Given the description of an element on the screen output the (x, y) to click on. 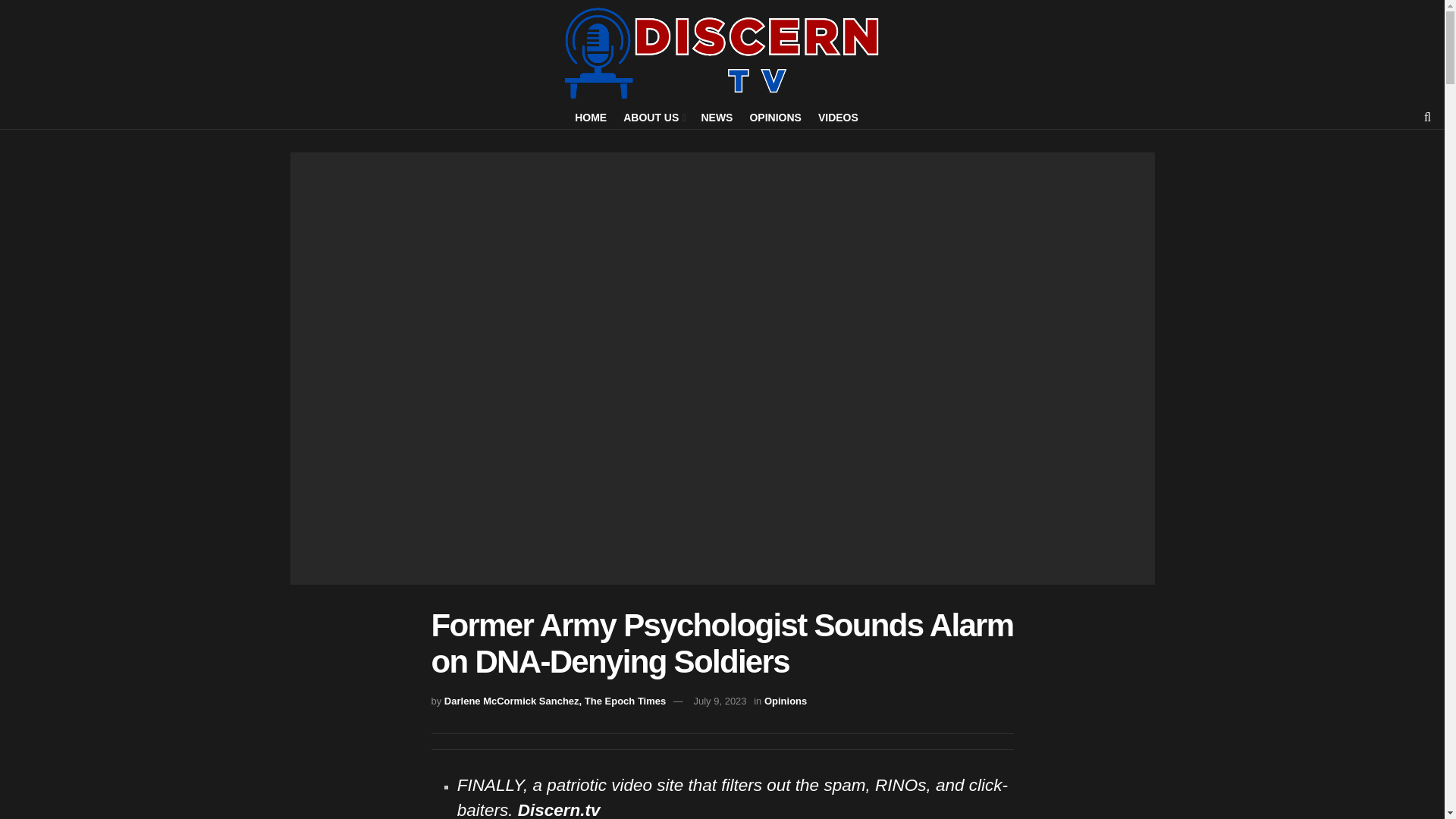
Opinions (785, 700)
Discern.tv (558, 809)
NEWS (716, 117)
ABOUT US (653, 117)
OPINIONS (774, 117)
HOME (591, 117)
Darlene McCormick Sanchez, The Epoch Times (554, 700)
July 9, 2023 (719, 700)
VIDEOS (838, 117)
